Given the description of an element on the screen output the (x, y) to click on. 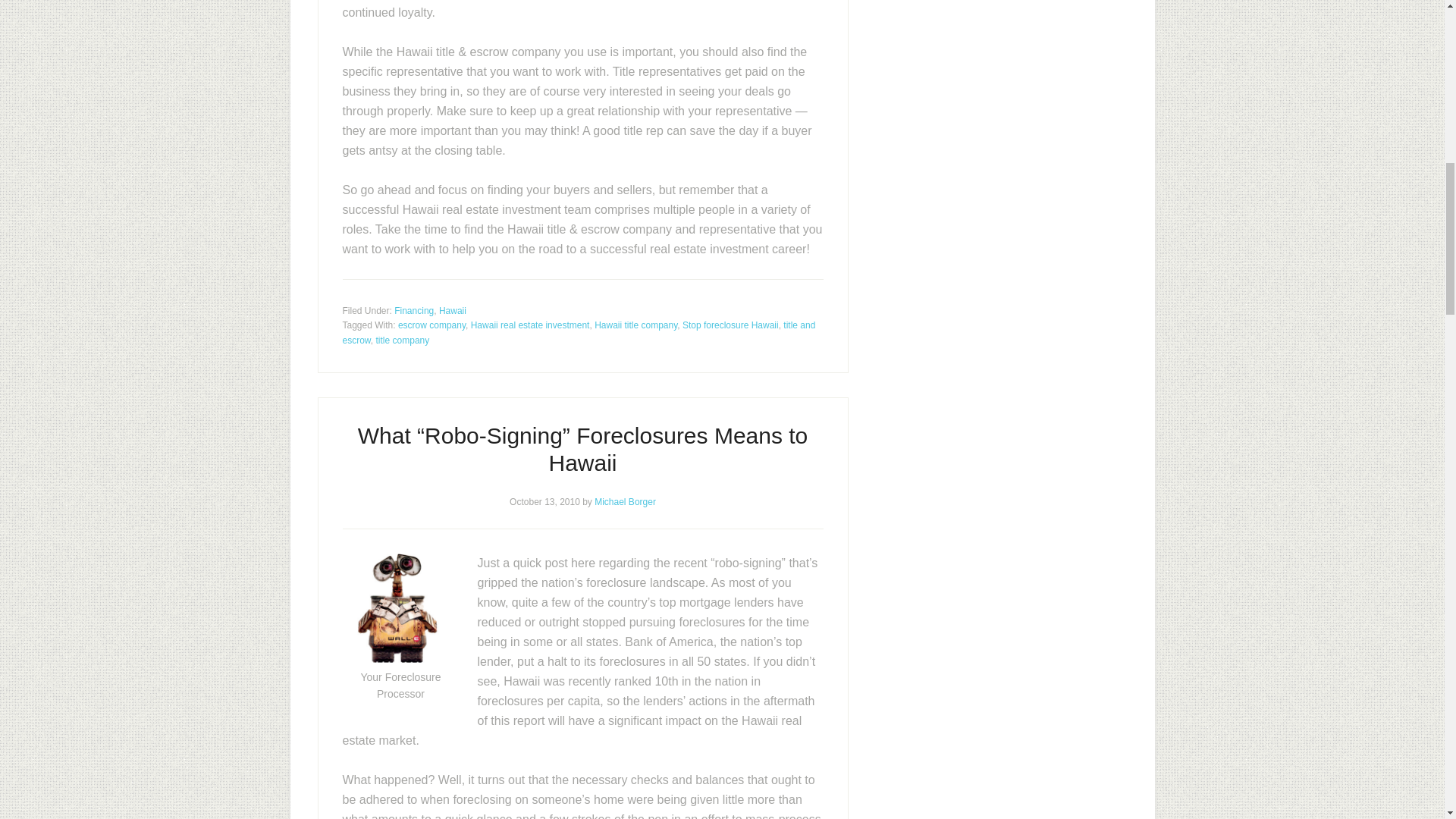
escrow company (431, 325)
Wall-E (396, 607)
Financing (413, 309)
Hawaii real estate investment (529, 325)
Stop foreclosure Hawaii (730, 325)
title and escrow (578, 332)
Hawaii (452, 309)
Hawaii title company (635, 325)
title company (402, 339)
Michael Borger (625, 501)
